Given the description of an element on the screen output the (x, y) to click on. 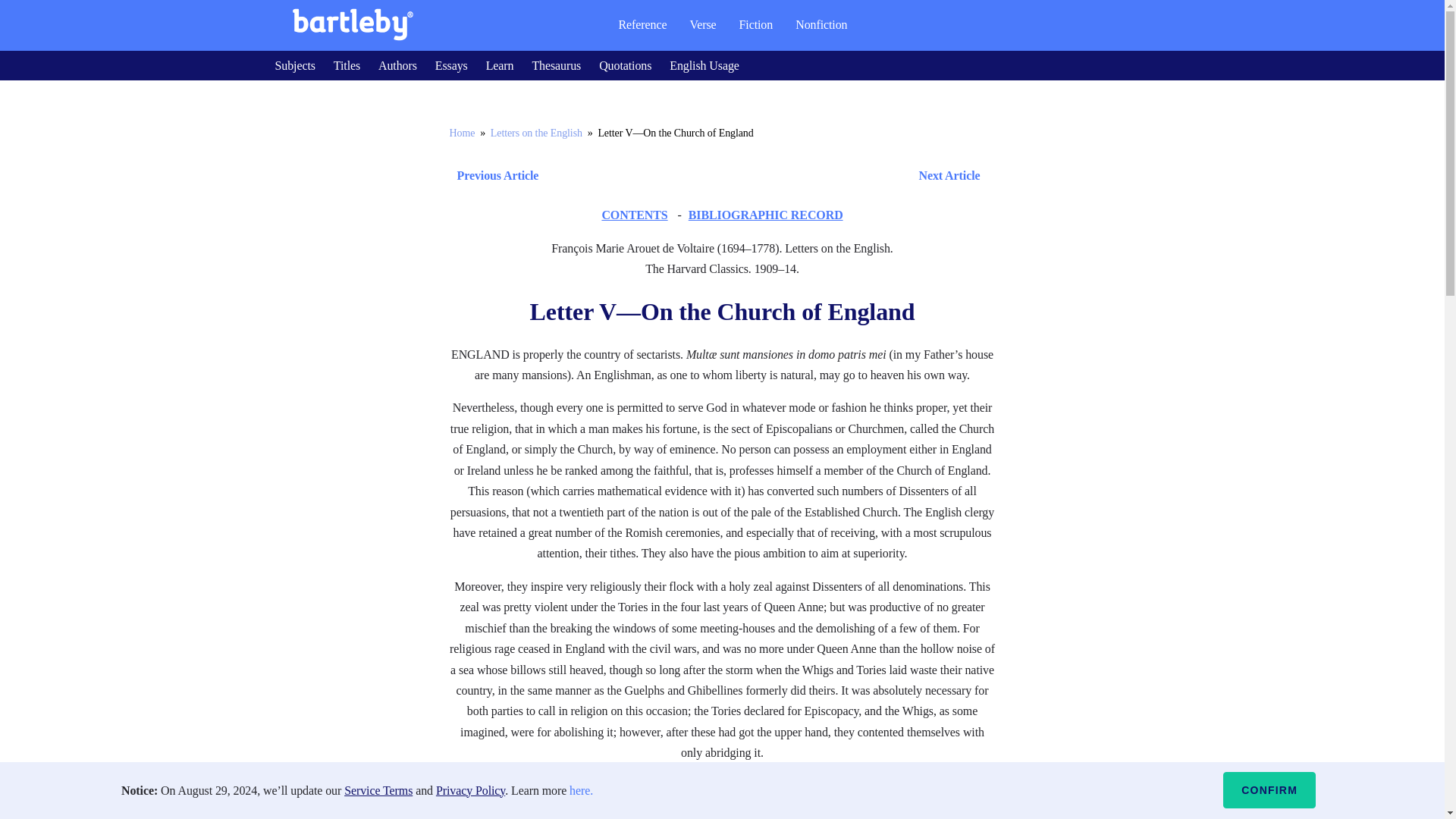
Home (461, 132)
Quotations (624, 65)
Authors (397, 65)
Letters on the English (536, 132)
Thesaurus (555, 65)
Nonfiction (821, 24)
CONTENTS (633, 214)
English Usage (704, 65)
Fiction (756, 24)
Next Article (766, 175)
Essays (451, 65)
Titles (346, 65)
Reference (642, 24)
Subjects (294, 65)
Previous Article (493, 175)
